Given the description of an element on the screen output the (x, y) to click on. 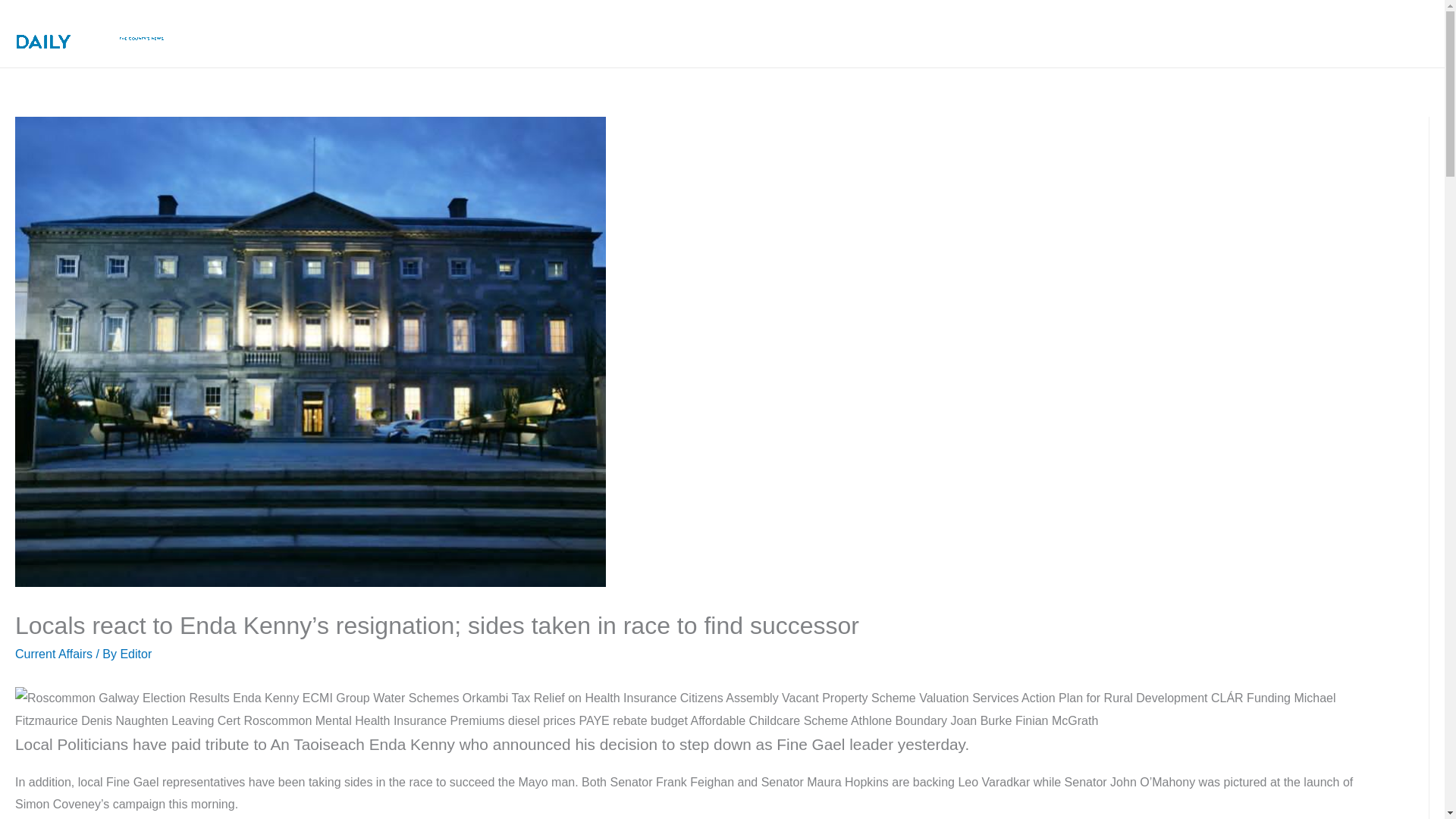
JOBS (1276, 33)
DEATH NOTICES (800, 33)
Current Affairs (53, 653)
NEWS (703, 33)
HOUSES FOR SALE (1004, 33)
View all posts by Editor (135, 653)
CONTACT US (1371, 33)
BUSINESS DIRECTORY (1161, 33)
HOME (634, 33)
Editor (135, 653)
SPORT (894, 33)
